Given the description of an element on the screen output the (x, y) to click on. 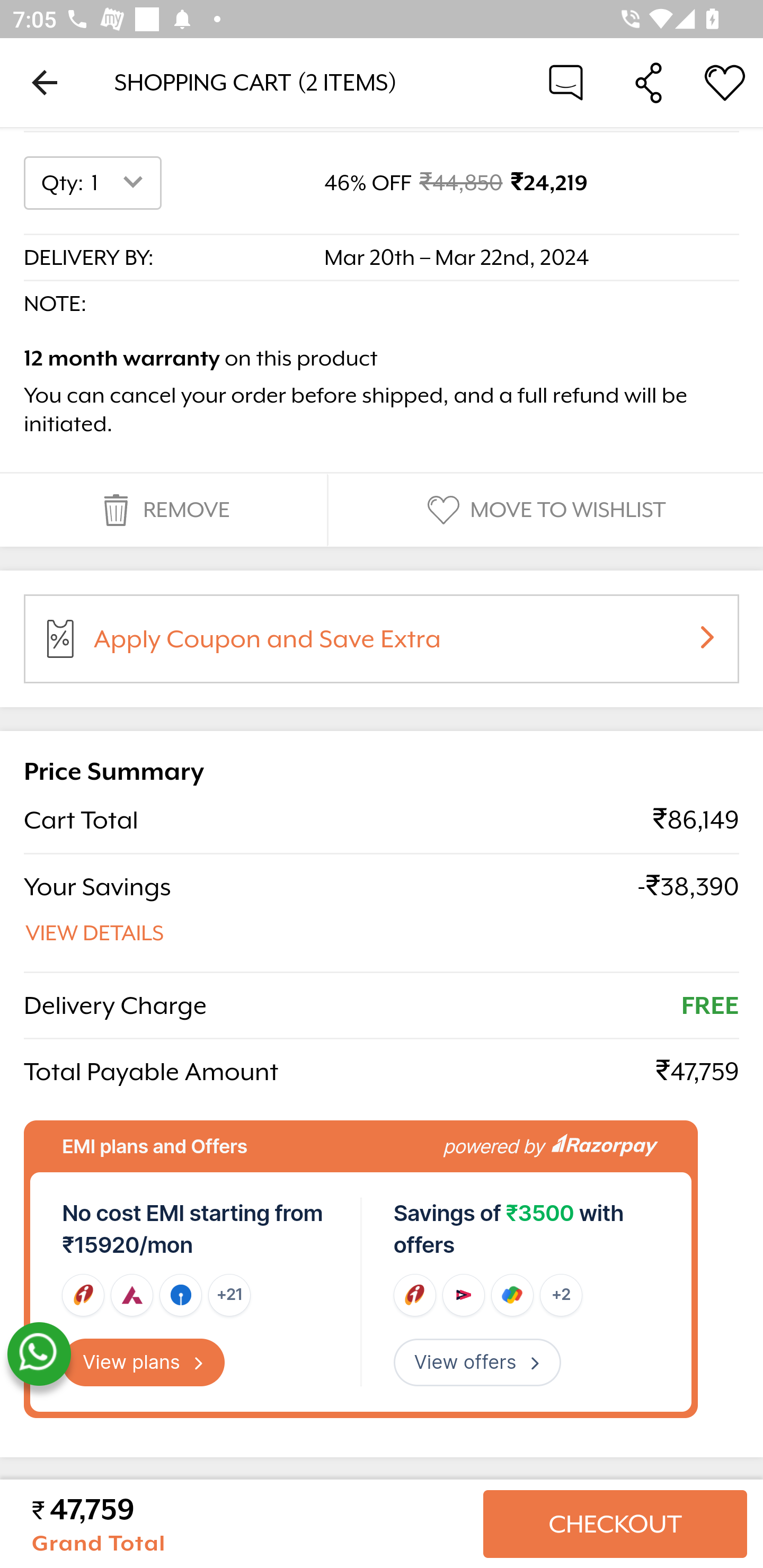
Navigate up (44, 82)
Chat (565, 81)
Share Cart (648, 81)
Wishlist (724, 81)
1 (121, 183)
REMOVE (163, 510)
MOVE TO WISHLIST (544, 510)
Apply Coupon and Save Extra (402, 645)
VIEW DETAILS (95, 933)
whatsapp (38, 1354)
View plans (143, 1362)
View offers (476, 1362)
₹ 47,759 Grand Total (250, 1523)
CHECKOUT (614, 1523)
